Given the description of an element on the screen output the (x, y) to click on. 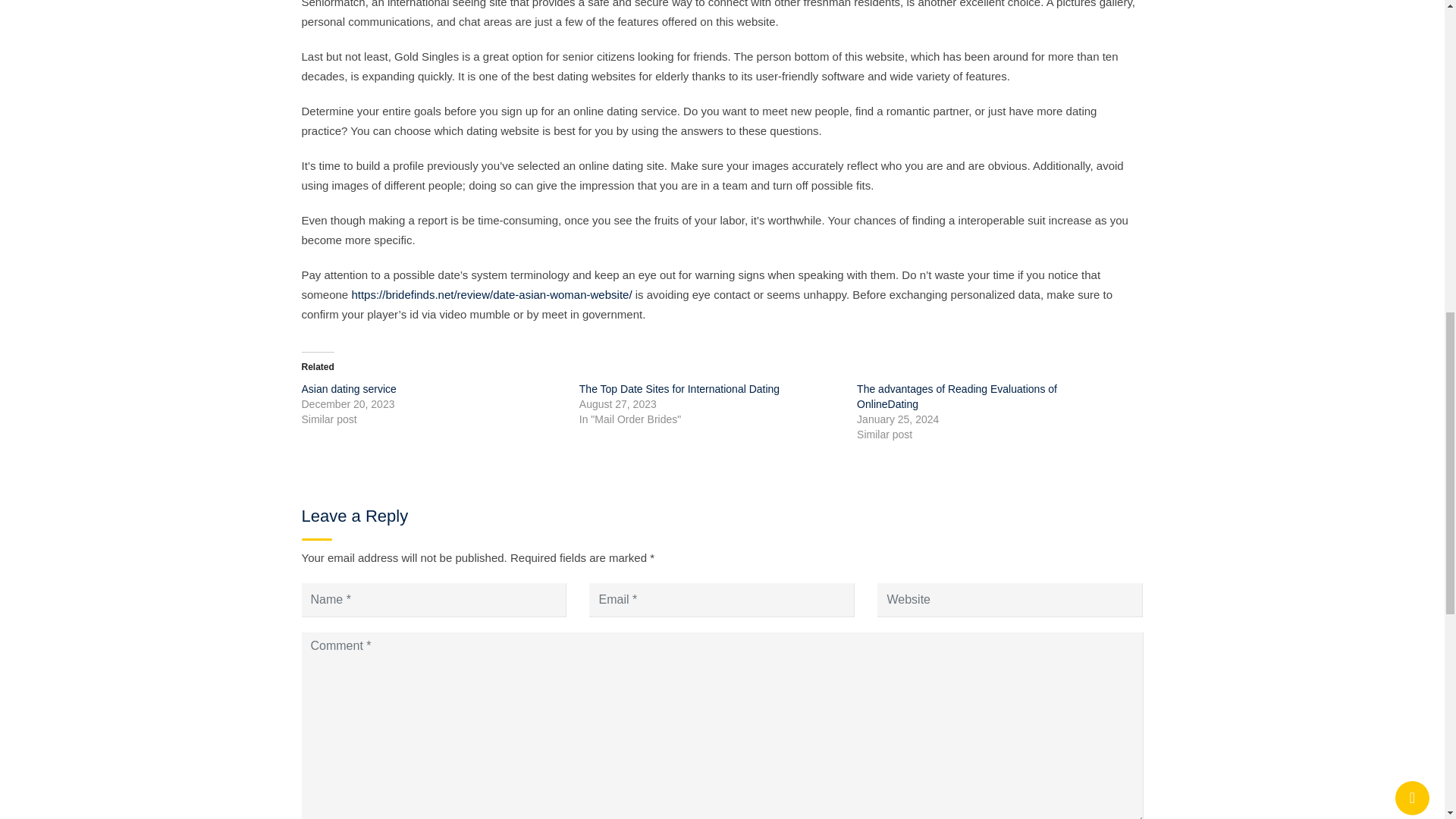
Asian dating service (348, 388)
The Top Date Sites for International Dating (678, 388)
The advantages of Reading Evaluations of OnlineDating (957, 396)
